Given the description of an element on the screen output the (x, y) to click on. 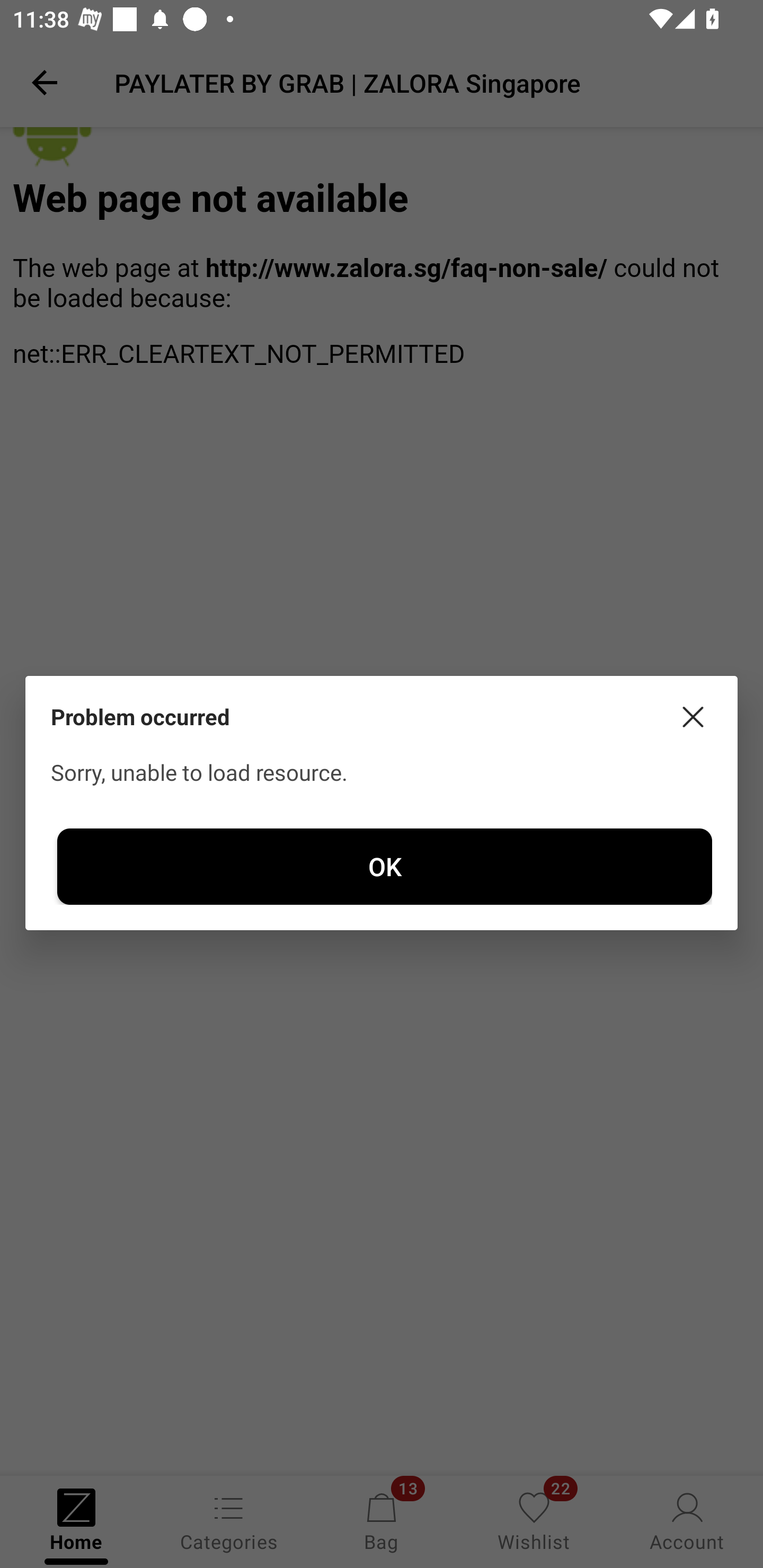
OK (384, 865)
